Given the description of an element on the screen output the (x, y) to click on. 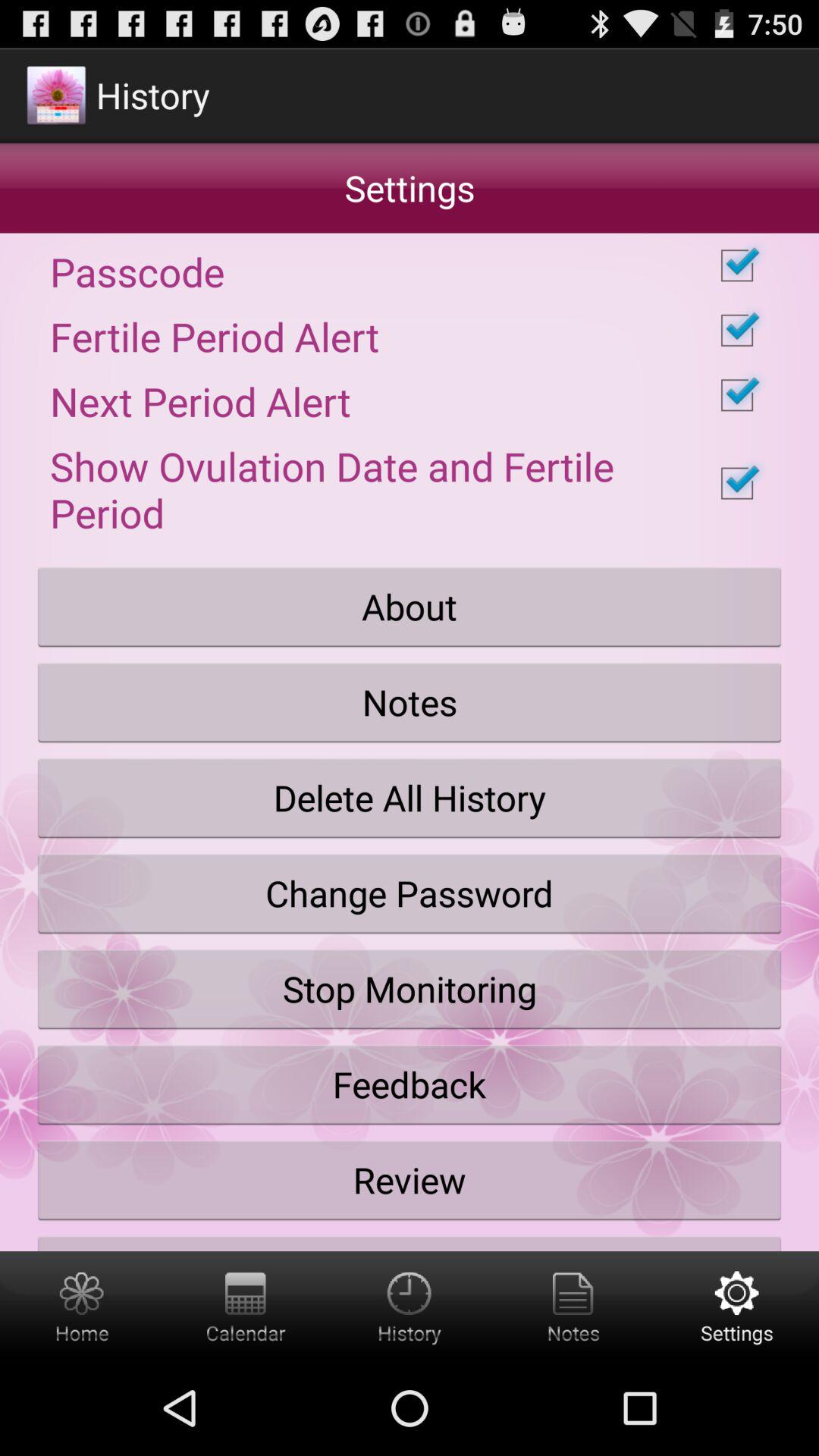
go to app home screen (81, 1305)
